Given the description of an element on the screen output the (x, y) to click on. 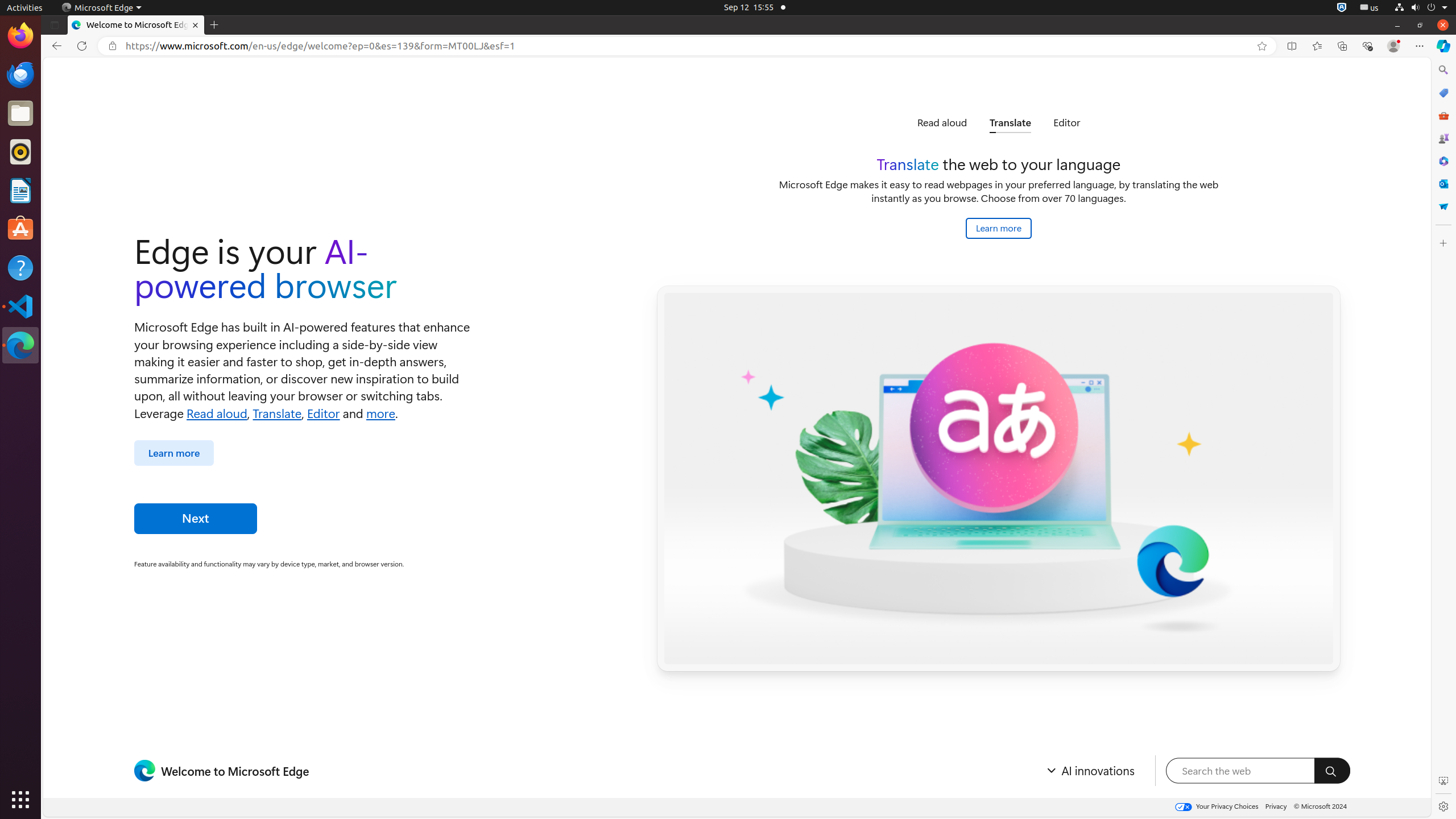
Back Element type: push-button (54, 45)
Show Applications Element type: toggle-button (20, 799)
New Tab Element type: push-button (214, 25)
Outlook Element type: push-button (1443, 183)
Editor Editor Element type: push-button (1066, 122)
